Given the description of an element on the screen output the (x, y) to click on. 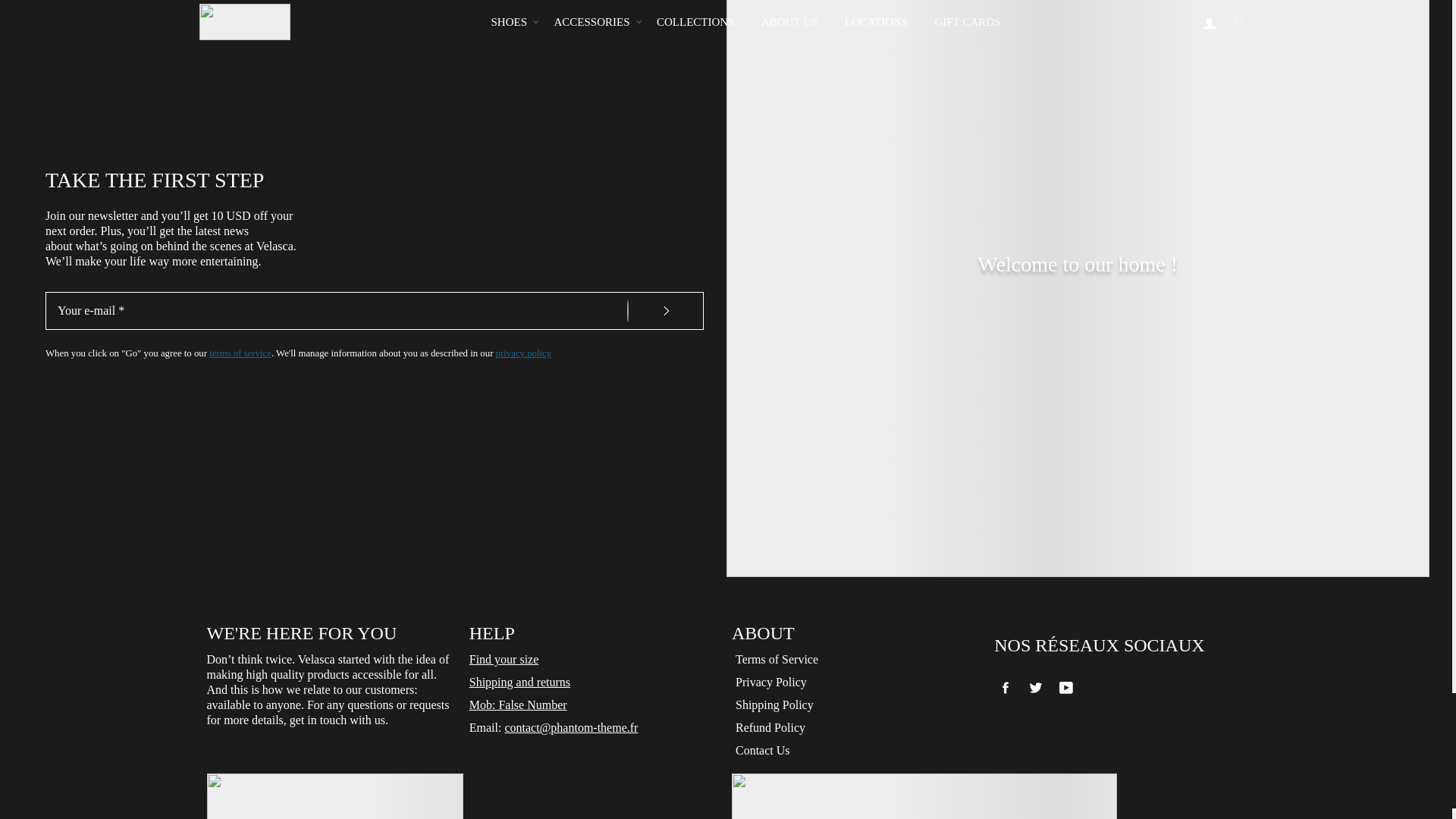
Size guide (503, 659)
Shipping and return (519, 682)
